Given the description of an element on the screen output the (x, y) to click on. 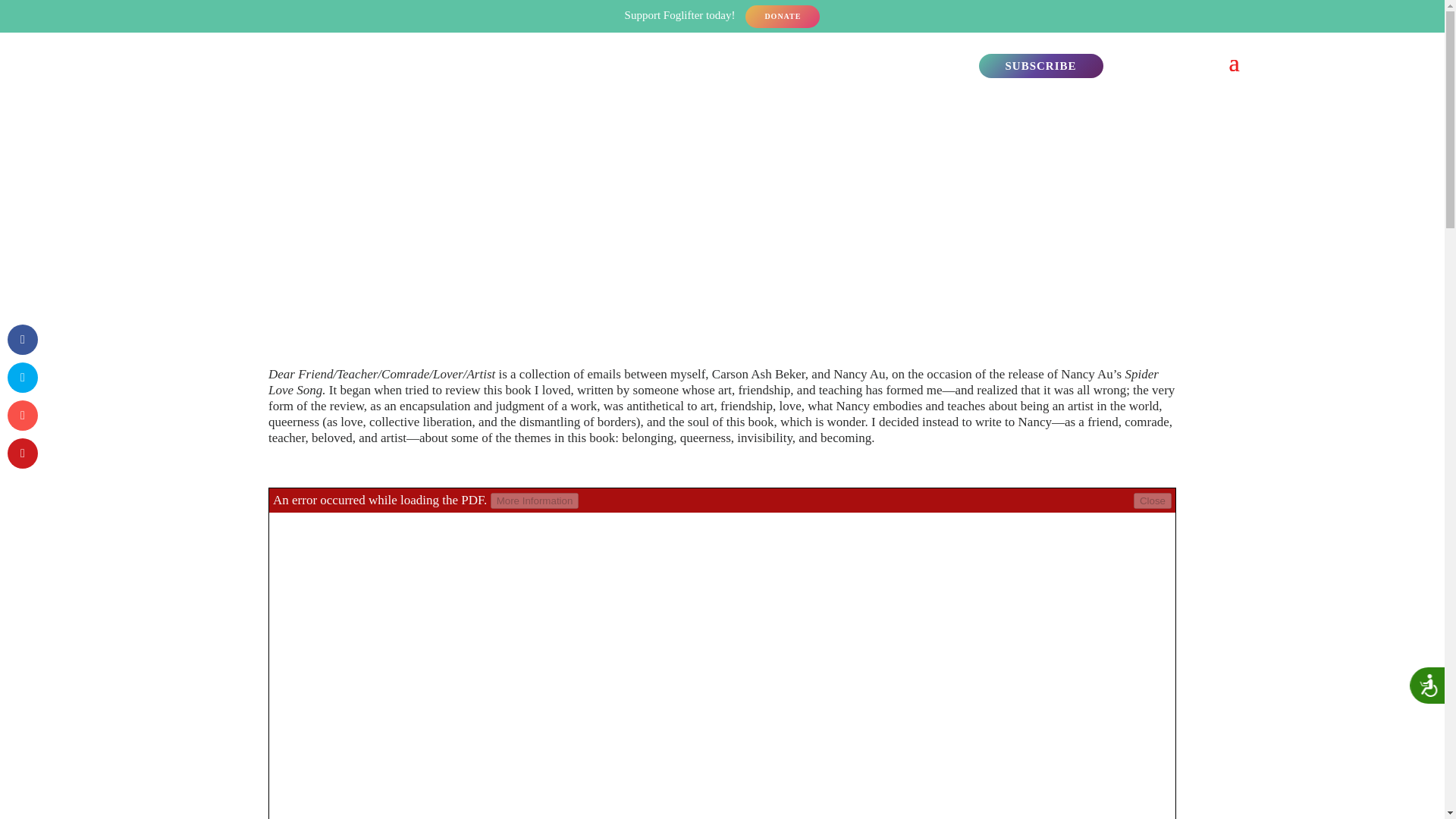
DONATE (782, 15)
Posts by Carson Ash Beker (594, 253)
